Given the description of an element on the screen output the (x, y) to click on. 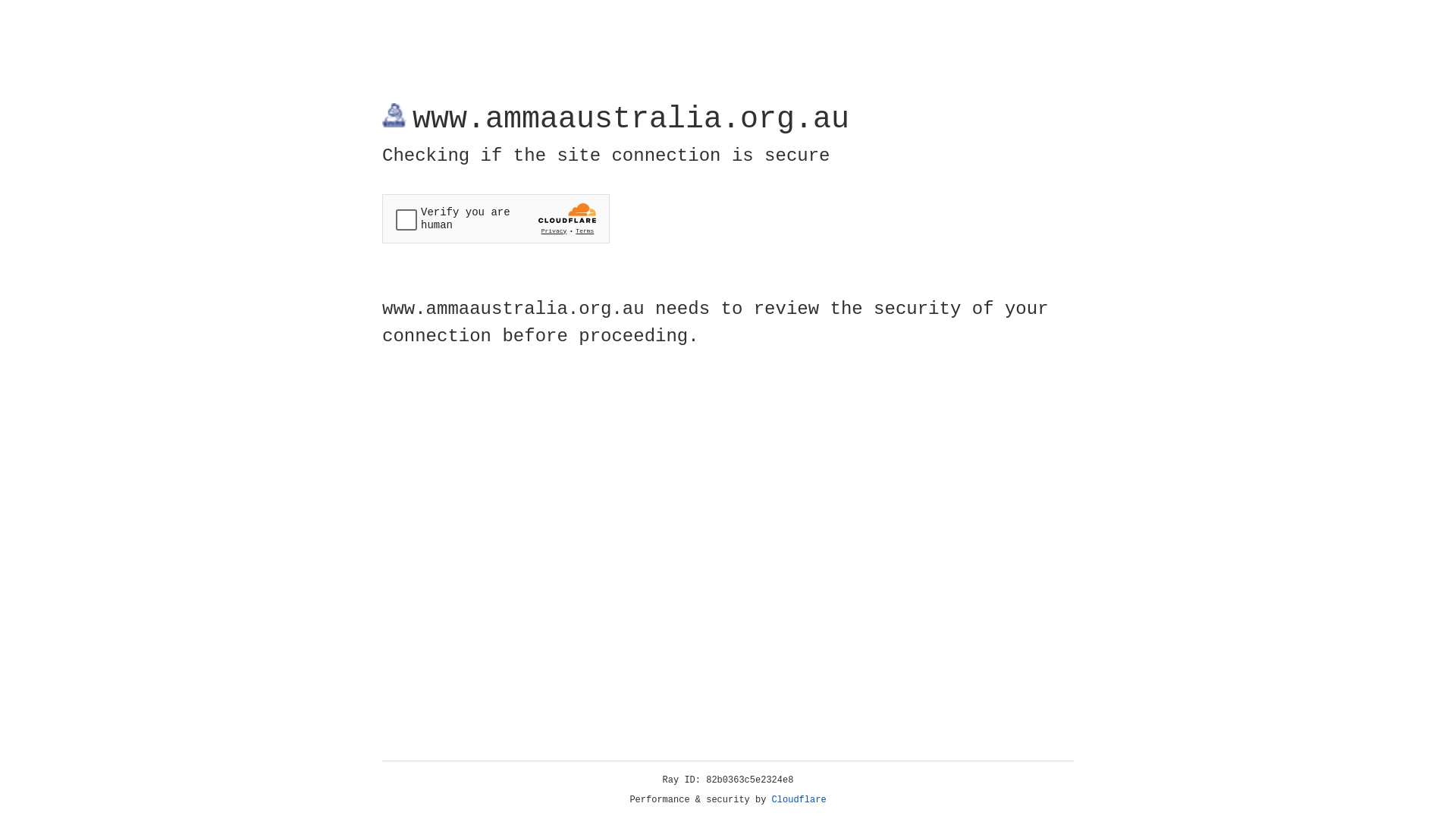
Cloudflare Element type: text (798, 799)
Widget containing a Cloudflare security challenge Element type: hover (495, 218)
